Given the description of an element on the screen output the (x, y) to click on. 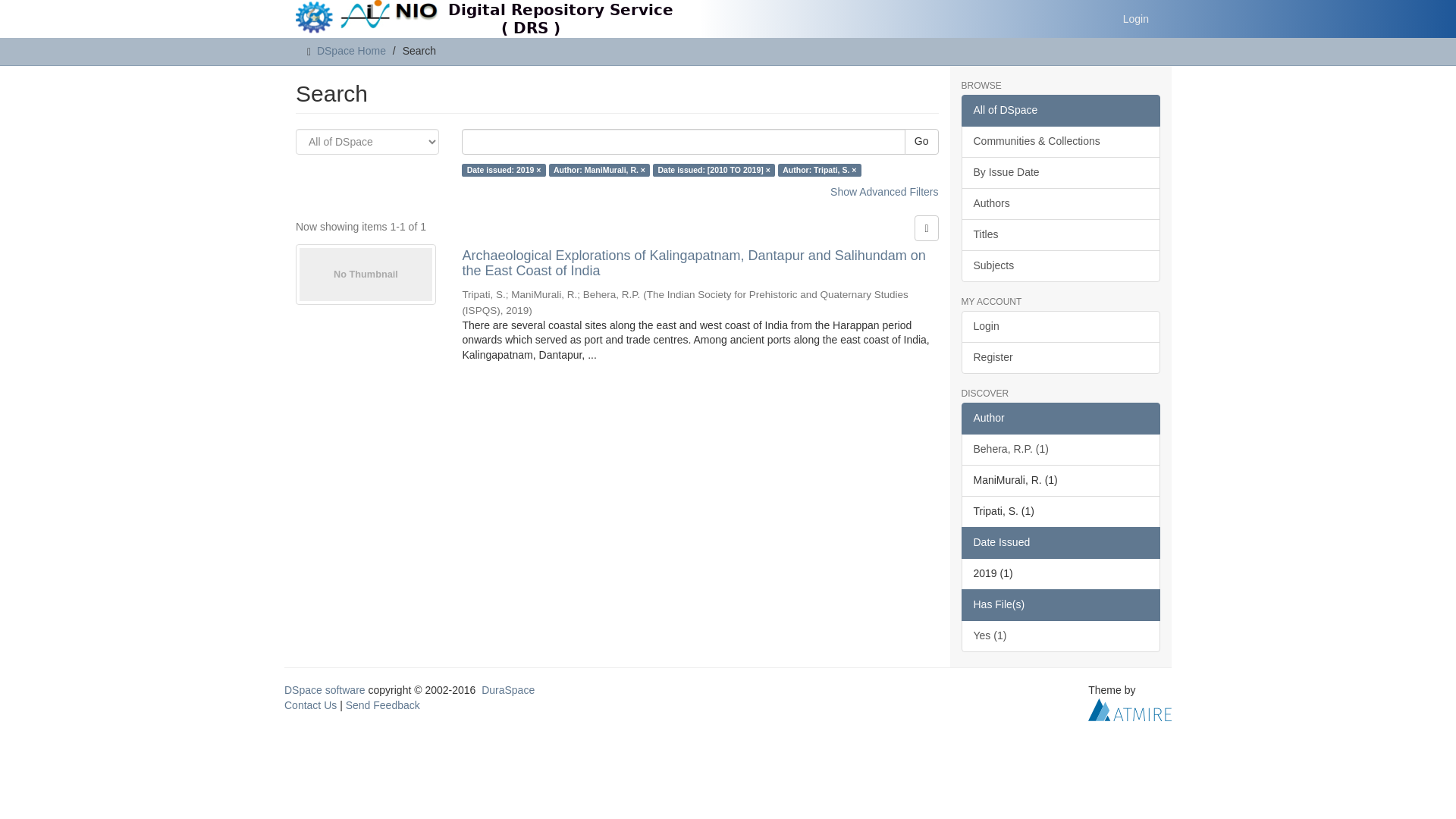
Login (1136, 18)
DSpace Home (351, 50)
Show Advanced Filters (883, 191)
Go (921, 141)
Atmire NV (1129, 708)
